Given the description of an element on the screen output the (x, y) to click on. 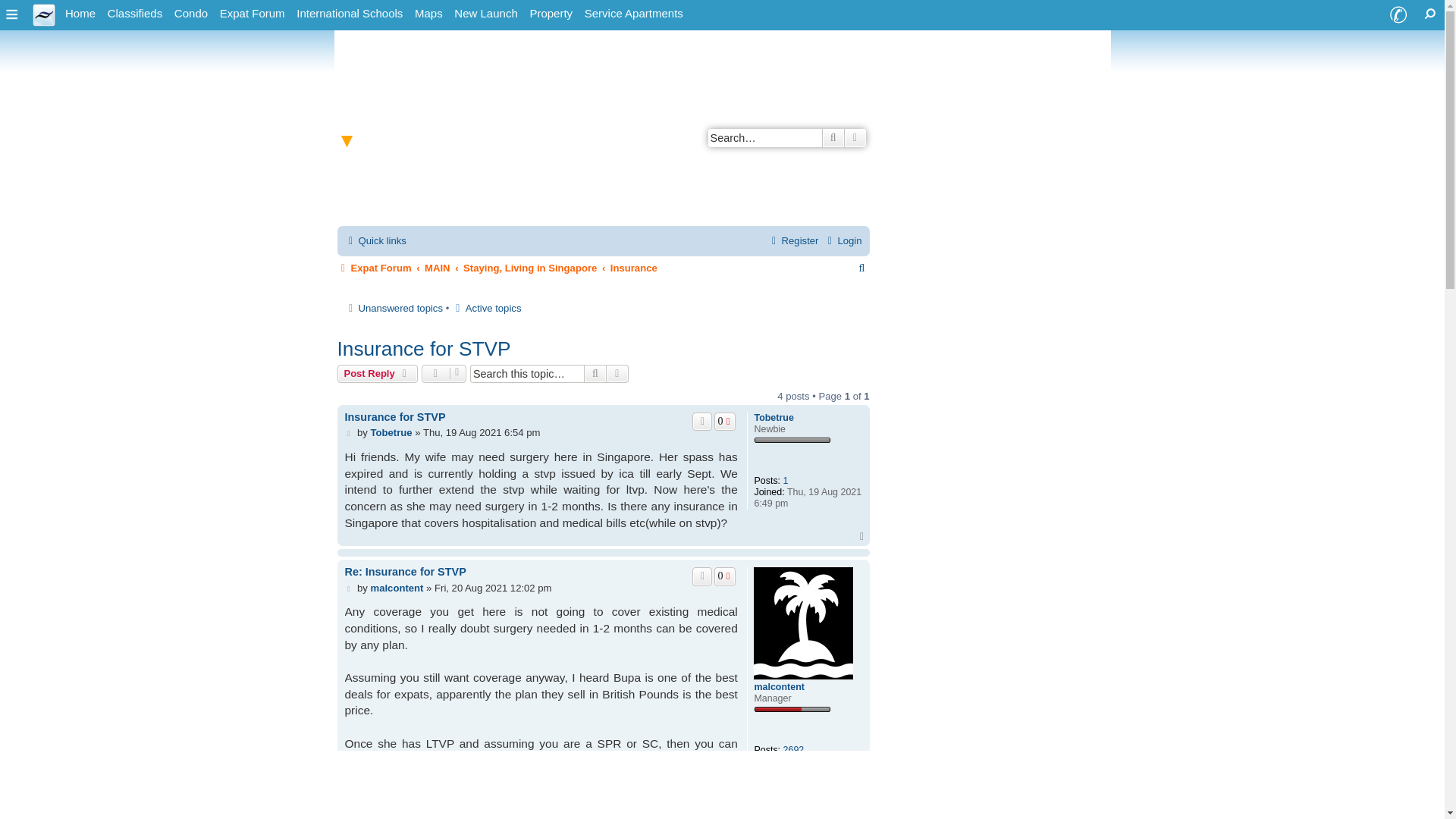
Singapore Street Maps (428, 13)
Classifieds (135, 13)
Singapore Expats Forum (252, 13)
Home (80, 13)
New Launch (485, 13)
Service Apartments (633, 13)
Singapore Expats (80, 13)
Singapore Service Apartments (633, 13)
Singapore Property (550, 13)
Condo (191, 13)
Expat Forum (252, 13)
International Schools (349, 13)
Maps (428, 13)
Singapore International Schools (349, 13)
Contact Us (1397, 15)
